Given the description of an element on the screen output the (x, y) to click on. 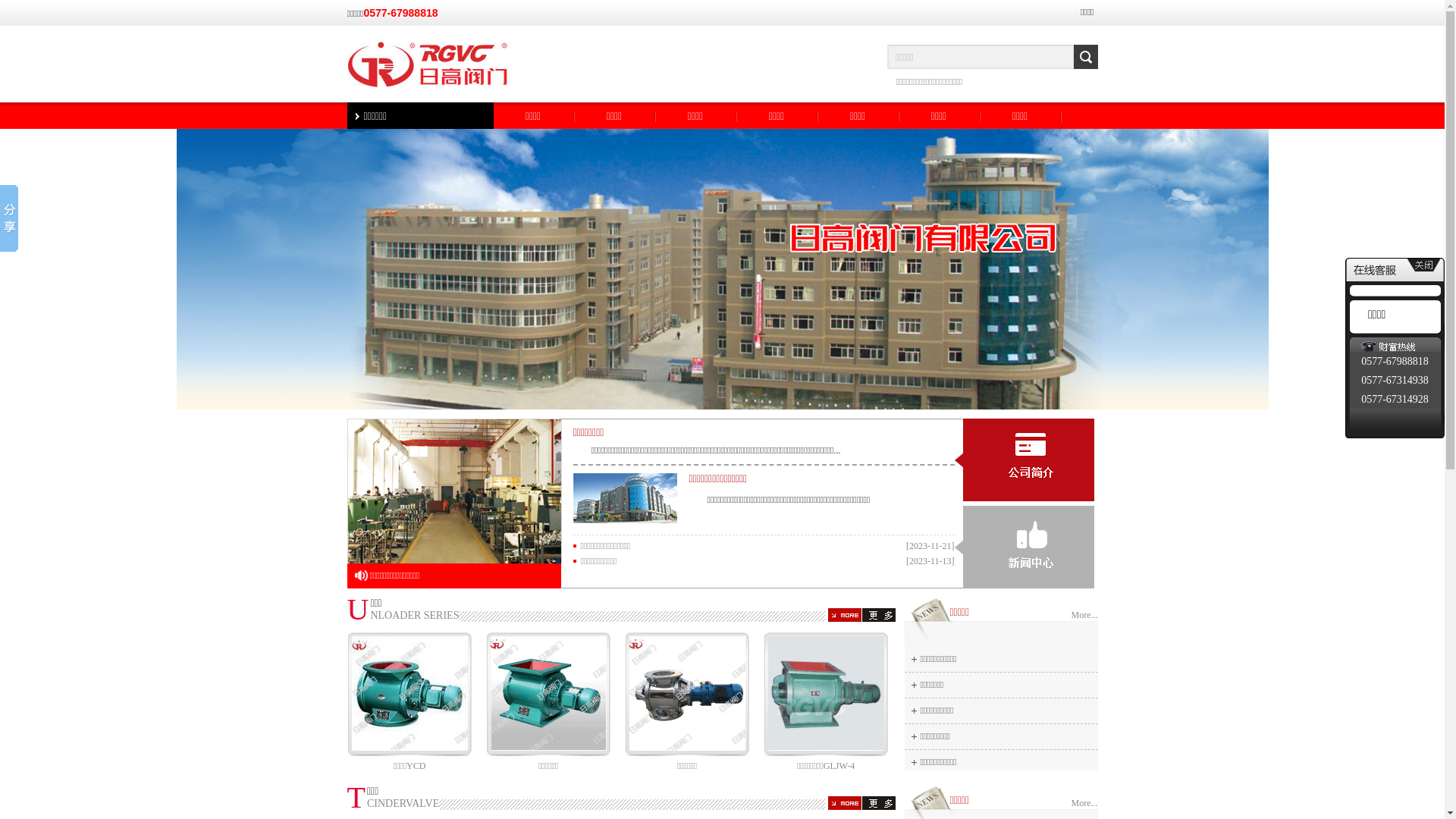
More... Element type: text (1083, 803)
More... Element type: text (1083, 615)
